Given the description of an element on the screen output the (x, y) to click on. 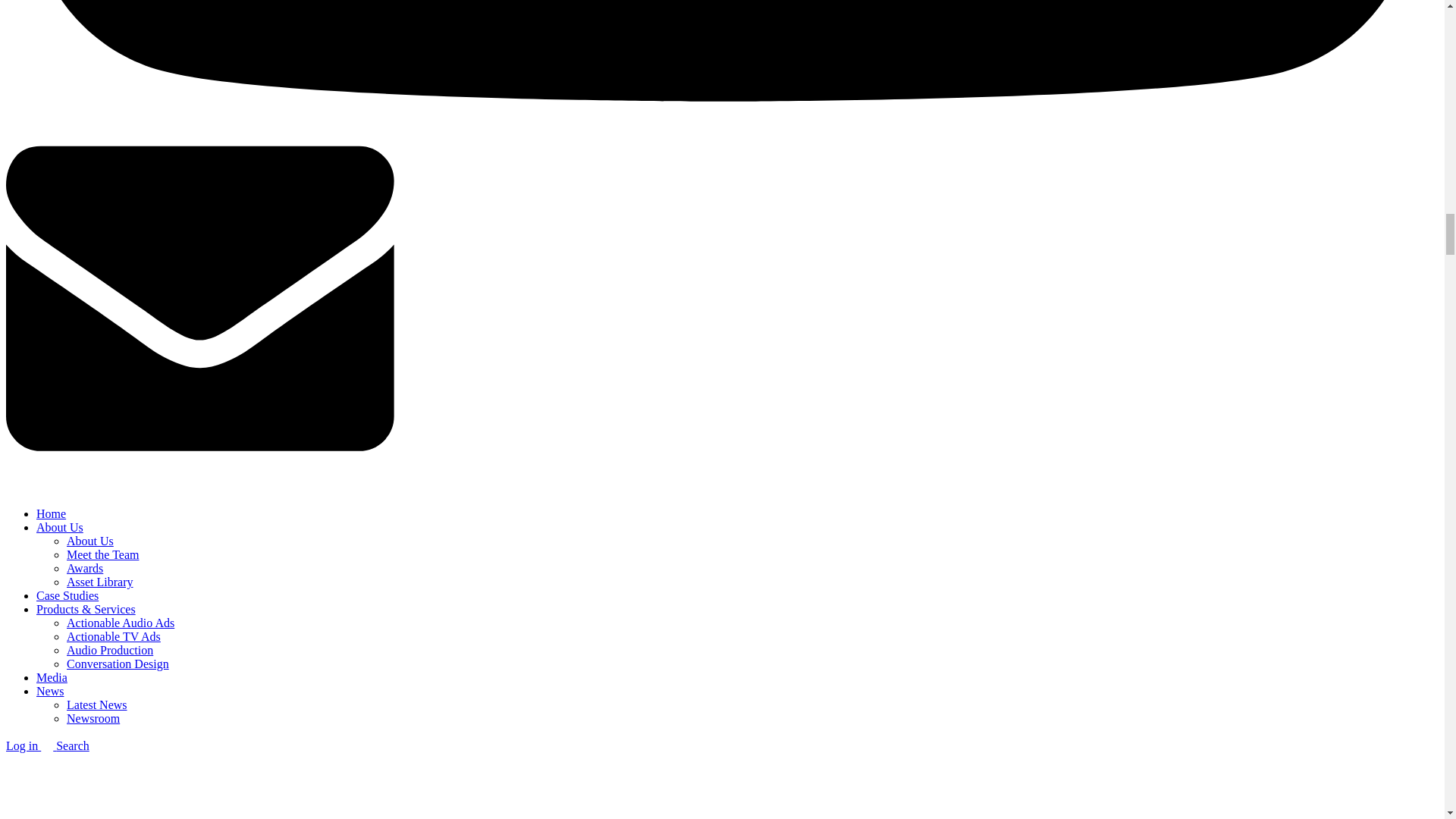
Case Studies (67, 594)
About Us (59, 526)
Actionable Audio Ads (120, 622)
Actionable TV Ads (113, 635)
Asset Library (99, 581)
About Us (89, 540)
Audio Production (109, 649)
Media (51, 676)
Awards (84, 567)
Conversation Design (117, 663)
Meet the Team (102, 554)
Home (50, 513)
